Given the description of an element on the screen output the (x, y) to click on. 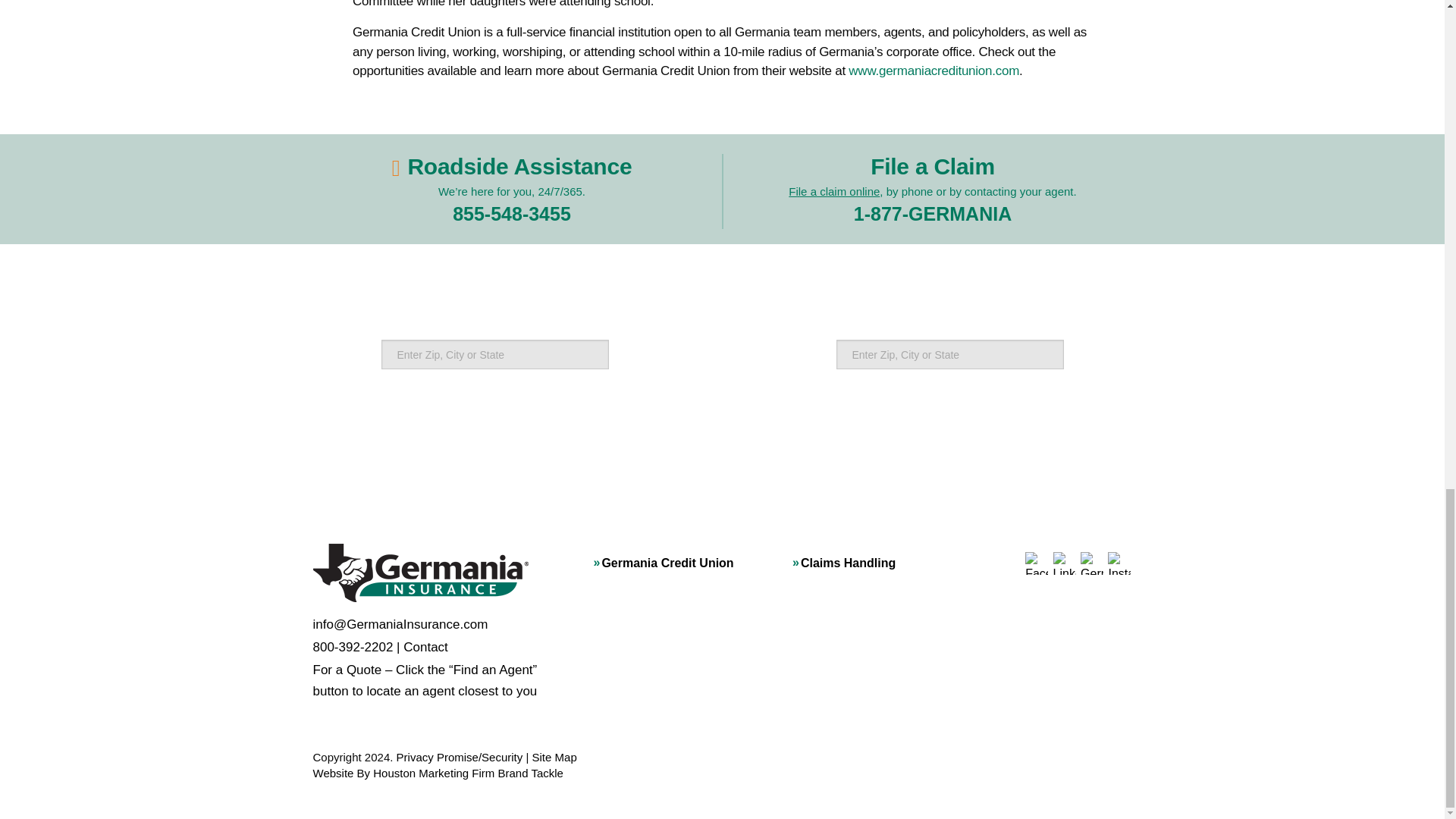
1-877-GERMANIA (932, 213)
855-548-3455 (511, 213)
Facebook (1036, 563)
Linkedin (1063, 563)
www.germaniacreditunion.com (933, 70)
Germania Insurance (420, 572)
icon-twitter (1091, 563)
File a claim online (834, 190)
Instagram (1119, 563)
Open image in original size (420, 571)
